Given the description of an element on the screen output the (x, y) to click on. 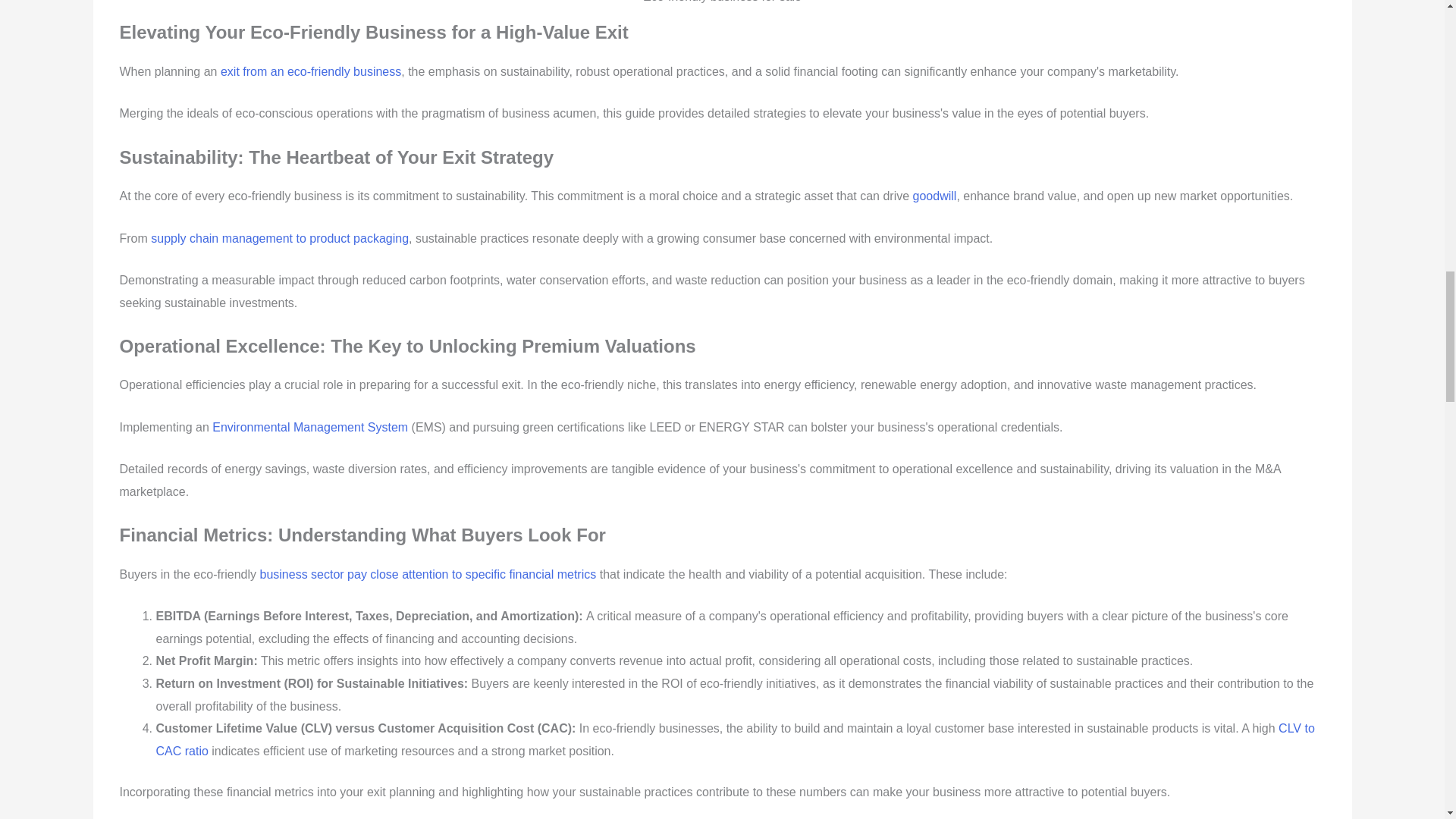
goodwill (934, 195)
supply chain management to product packaging (280, 237)
CLV to CAC ratio (734, 739)
Environmental Management System (309, 427)
goodwill (934, 195)
exit from an eco-friendly business (311, 71)
